Given the description of an element on the screen output the (x, y) to click on. 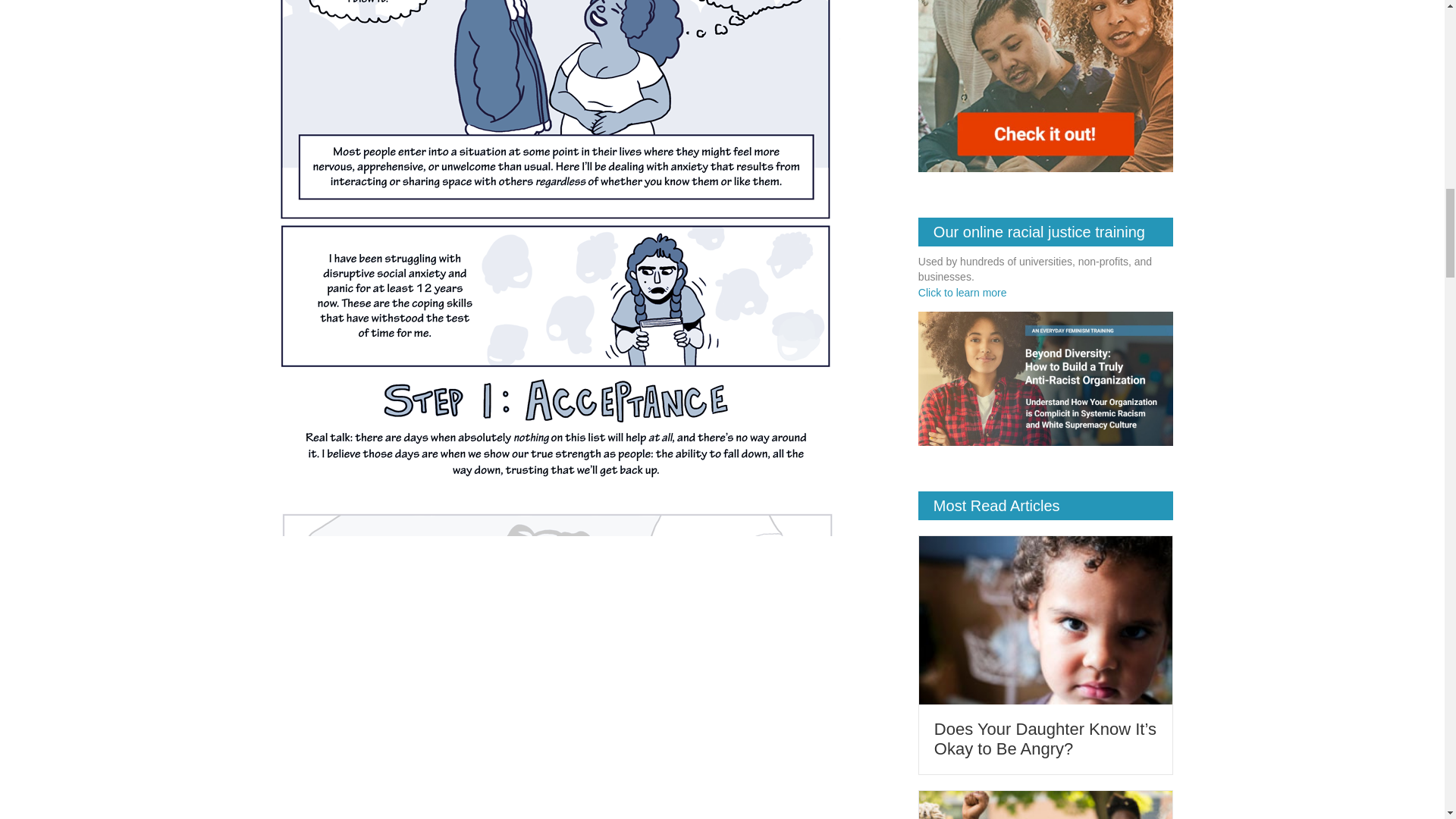
Click to learn more (962, 292)
